Given the description of an element on the screen output the (x, y) to click on. 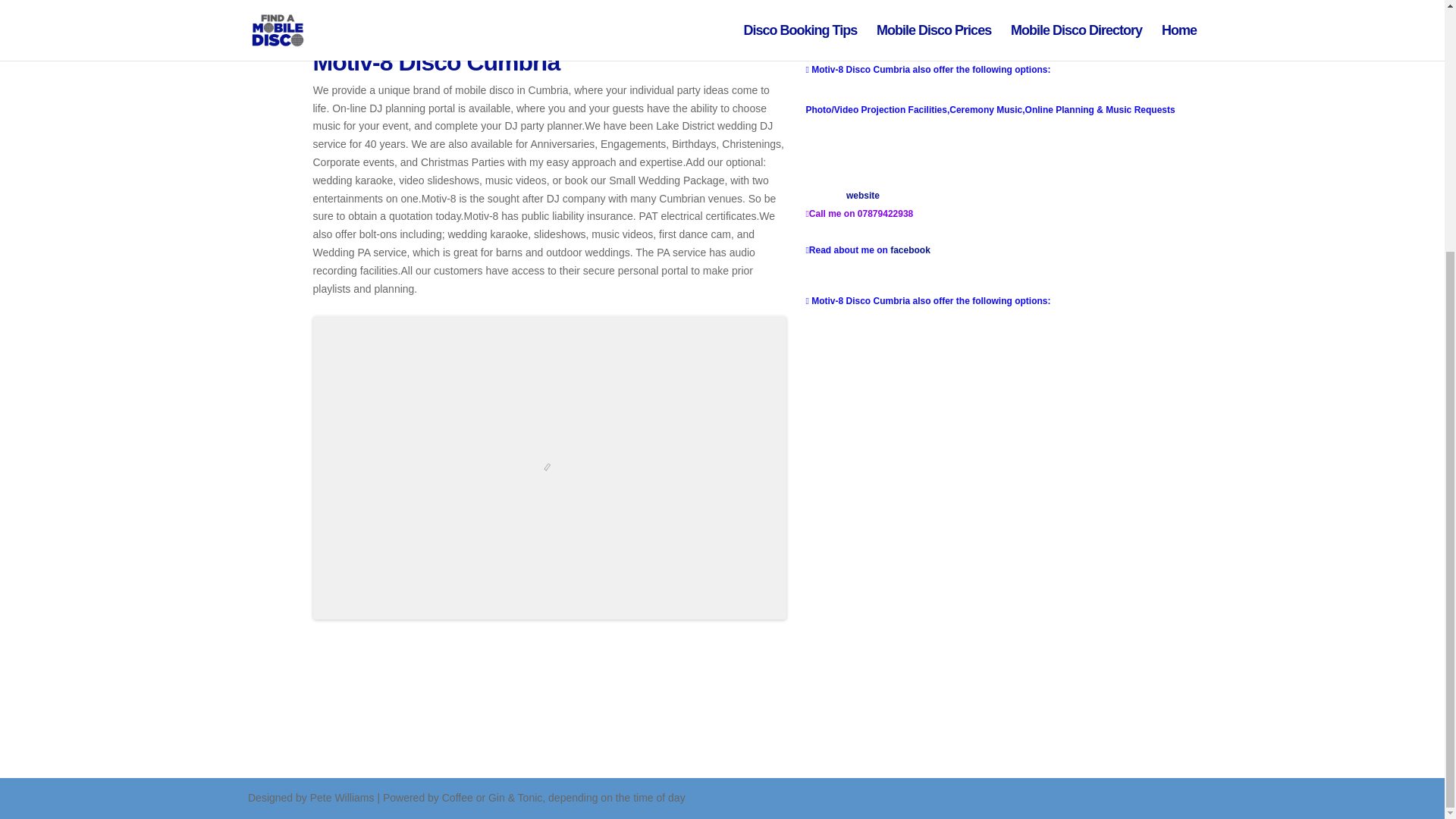
Motiv-8 Disco Cumbria also offer the following options: (928, 69)
Motiv-8 Disco Cumbria (436, 62)
Read about me on facebook (868, 249)
View: Motiv-8 Disco Cumbria (436, 62)
Motiv-8 Disco Cumbria also offer the following options: (928, 300)
Visit my website (842, 195)
facebook (909, 249)
website (862, 195)
Call me on 07879422938 (859, 213)
